Given the description of an element on the screen output the (x, y) to click on. 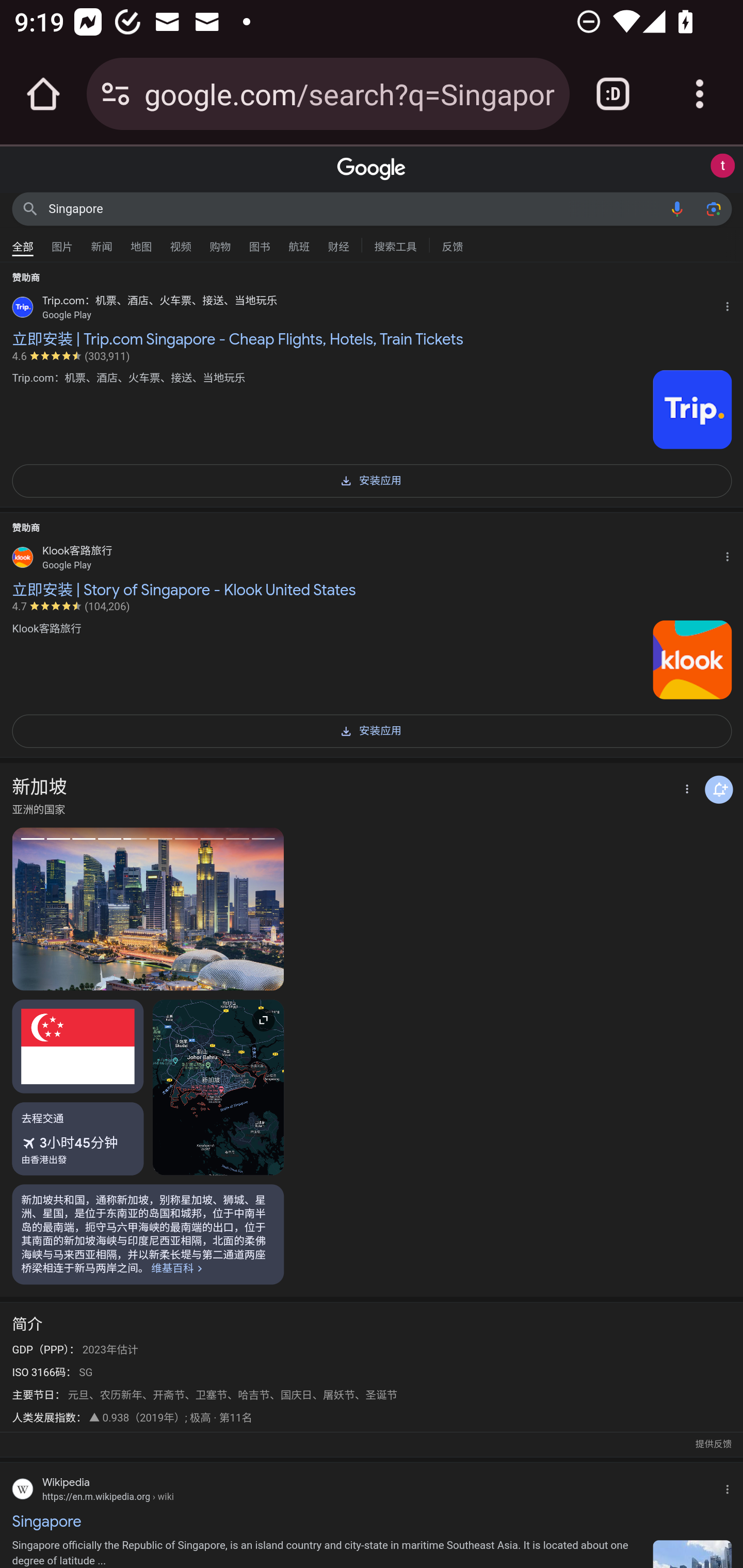
Open the home page (43, 93)
Connection is secure (115, 93)
Switch or close tabs (612, 93)
Customize and control Google Chrome (699, 93)
Google (371, 169)
Google 账号： test appium (testappium002@gmail.com) (722, 165)
Google 搜索 (29, 208)
使用拍照功能或照片进行搜索 (712, 208)
Singapore (353, 208)
图片 (62, 241)
新闻 (101, 241)
地图 (141, 241)
视频 (180, 241)
购物 (219, 241)
图书 (259, 241)
航班 (299, 241)
财经 (338, 241)
搜索工具 (395, 244)
反馈 (452, 244)
为什么会显示该广告？ (731, 303)
图片来自 google.com (691, 410)
安装应用 (371, 478)
为什么会显示该广告？ (731, 553)
立即安装 | Story of Singapore - Klook United States (371, 589)
图片来自 google.com (691, 659)
安装应用 (371, 729)
接收关于“新加坡”的通知 (718, 789)
更多选项 (685, 789)
旗帜的图片。 (77, 1045)
展开地图 (217, 1087)
去程交通 3小时45分钟 乘坐飞机 由香港出發 (77, 1139)
%E6%96%B0%E5%8A%A0%E5%9D%A1 (147, 1233)
提供反馈 (713, 1444)
Singapore (371, 1520)
